Given the description of an element on the screen output the (x, y) to click on. 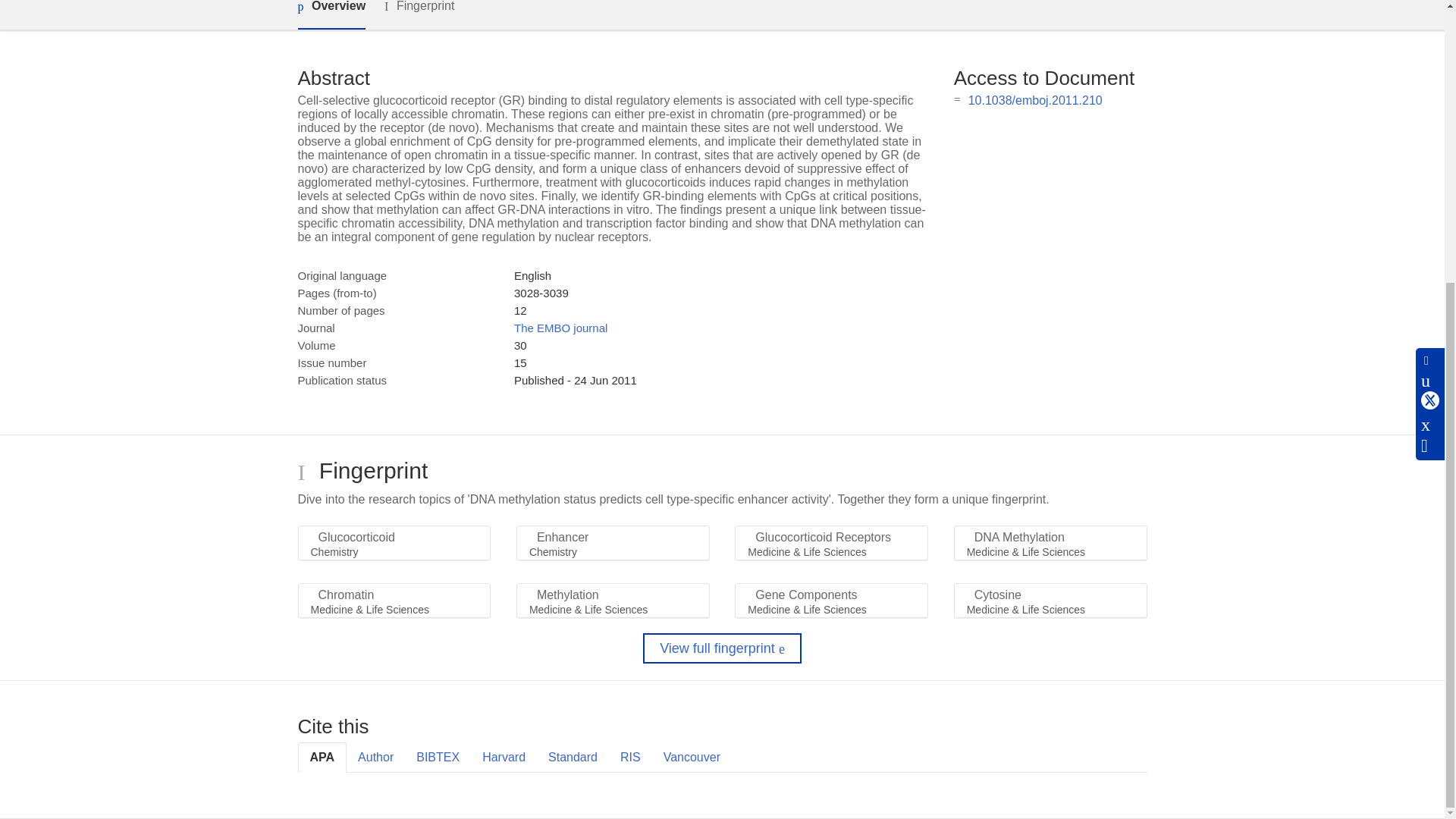
The EMBO journal (560, 327)
Fingerprint (419, 13)
Overview (331, 14)
View full fingerprint (722, 648)
